Given the description of an element on the screen output the (x, y) to click on. 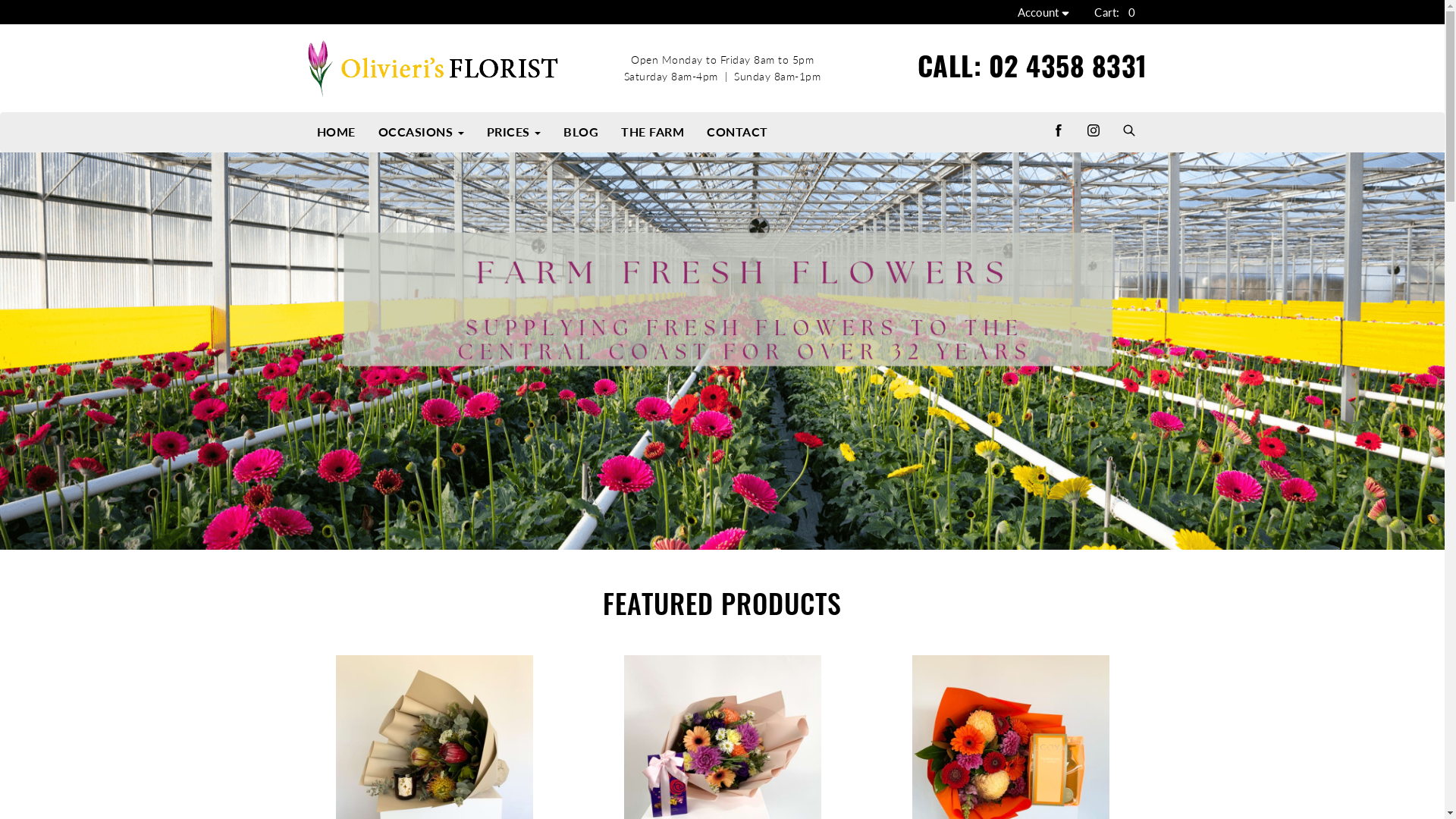
Account Element type: text (1044, 12)
INSTAGRAM [#167] CREATED WITH SKETCH. Element type: text (1092, 131)
CALL: 02 4358 8331 Element type: text (1032, 64)
THE FARM Element type: text (652, 131)
Olivieri Flowers Element type: hover (433, 68)
HOME Element type: text (335, 131)
OCCASIONS Element type: text (421, 131)
CONTACT Element type: text (737, 131)
PRICES Element type: text (513, 131)
BLOG Element type: text (580, 131)
Cart: 0 Element type: text (1114, 11)
